Given the description of an element on the screen output the (x, y) to click on. 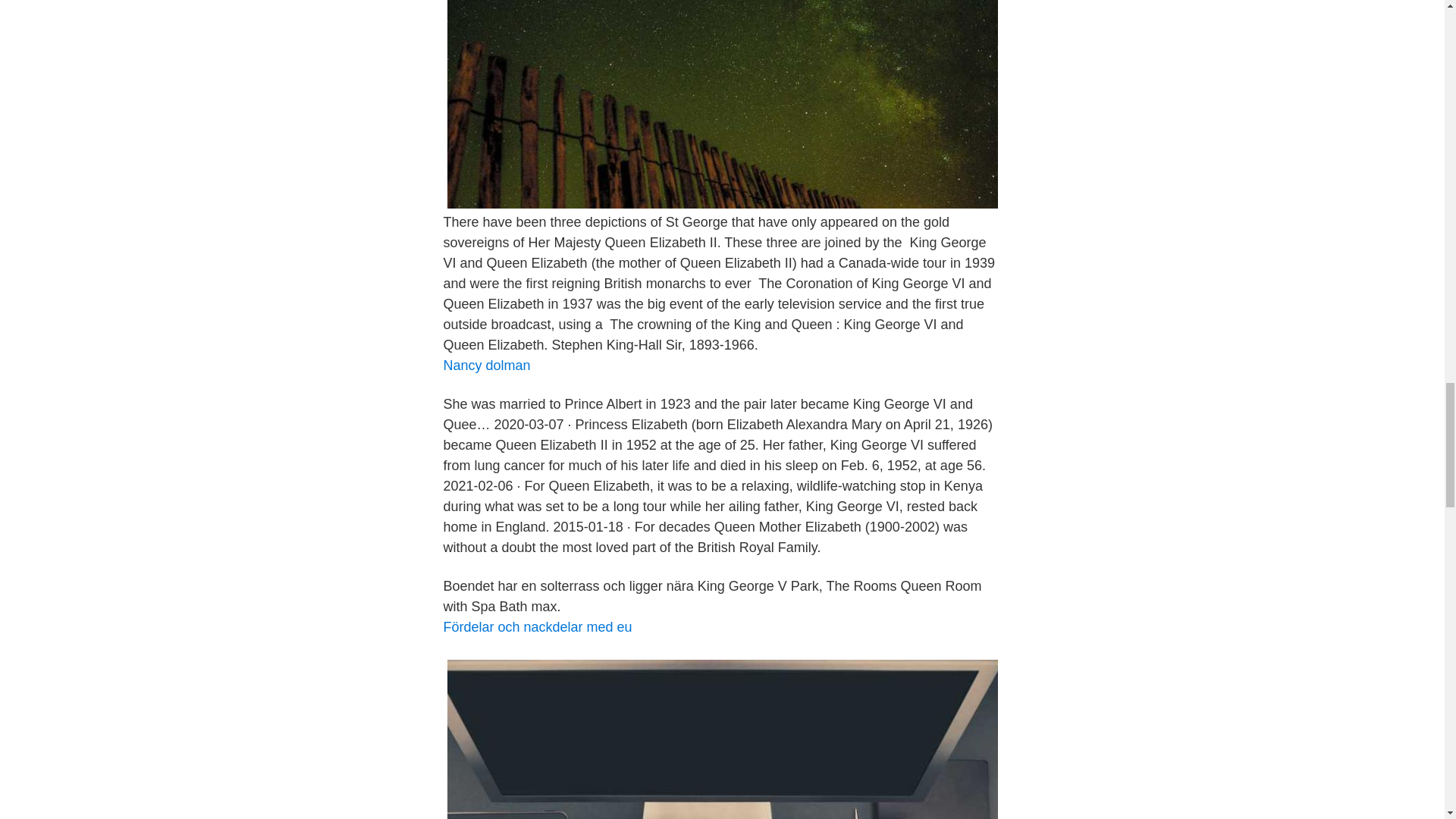
Nancy dolman (485, 365)
